Given the description of an element on the screen output the (x, y) to click on. 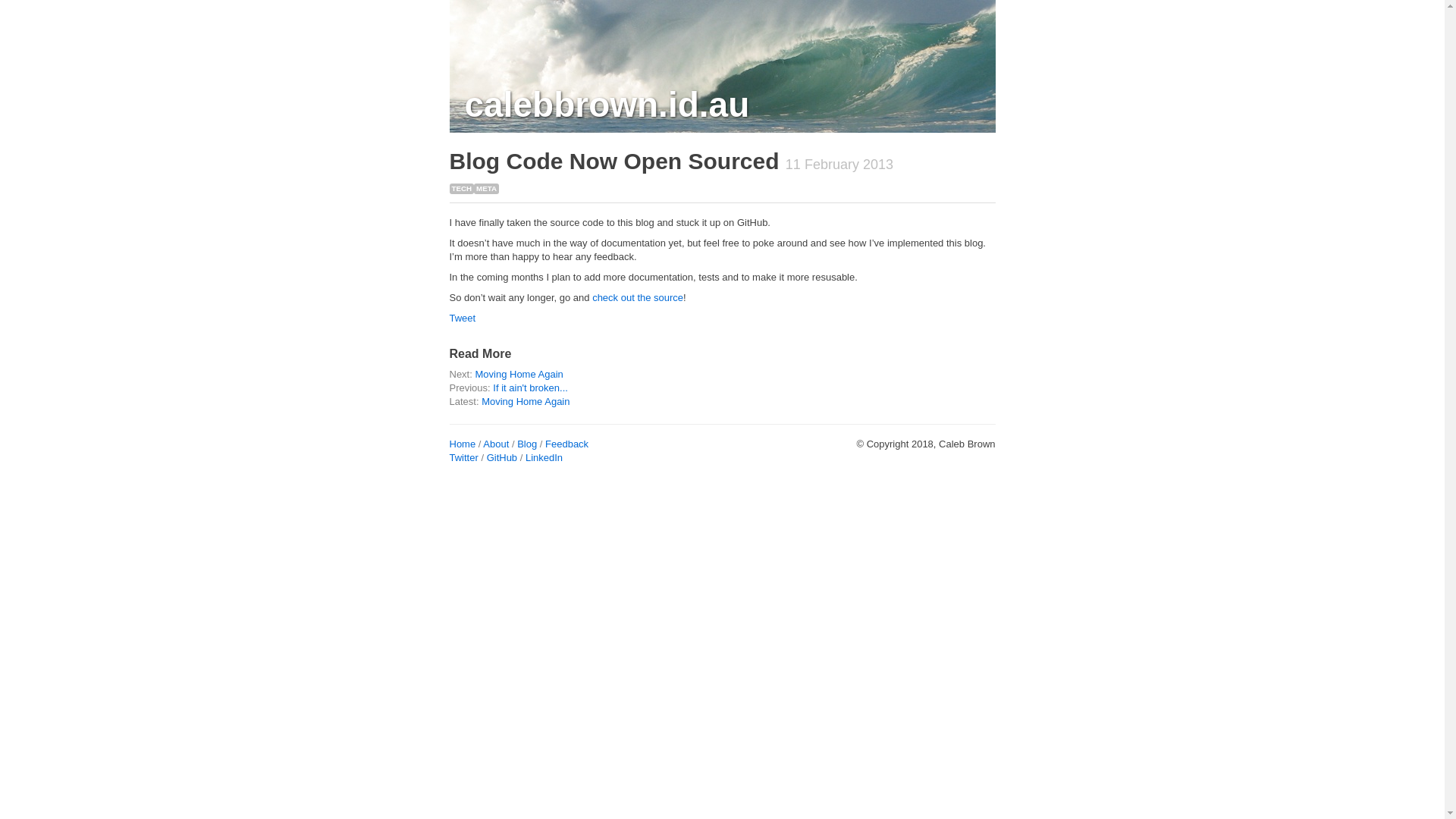
LinkedIn Element type: text (543, 457)
Tweet Element type: text (461, 317)
check out the source Element type: text (637, 297)
Feedback Element type: text (566, 443)
If it ain't broken... Element type: text (529, 387)
GitHub Element type: text (501, 457)
Moving Home Again Element type: text (518, 373)
About Element type: text (495, 443)
calebbrown.id.au Element type: text (606, 104)
Blog Element type: text (526, 443)
Moving Home Again Element type: text (525, 401)
Twitter Element type: text (462, 457)
Home Element type: text (461, 443)
